Given the description of an element on the screen output the (x, y) to click on. 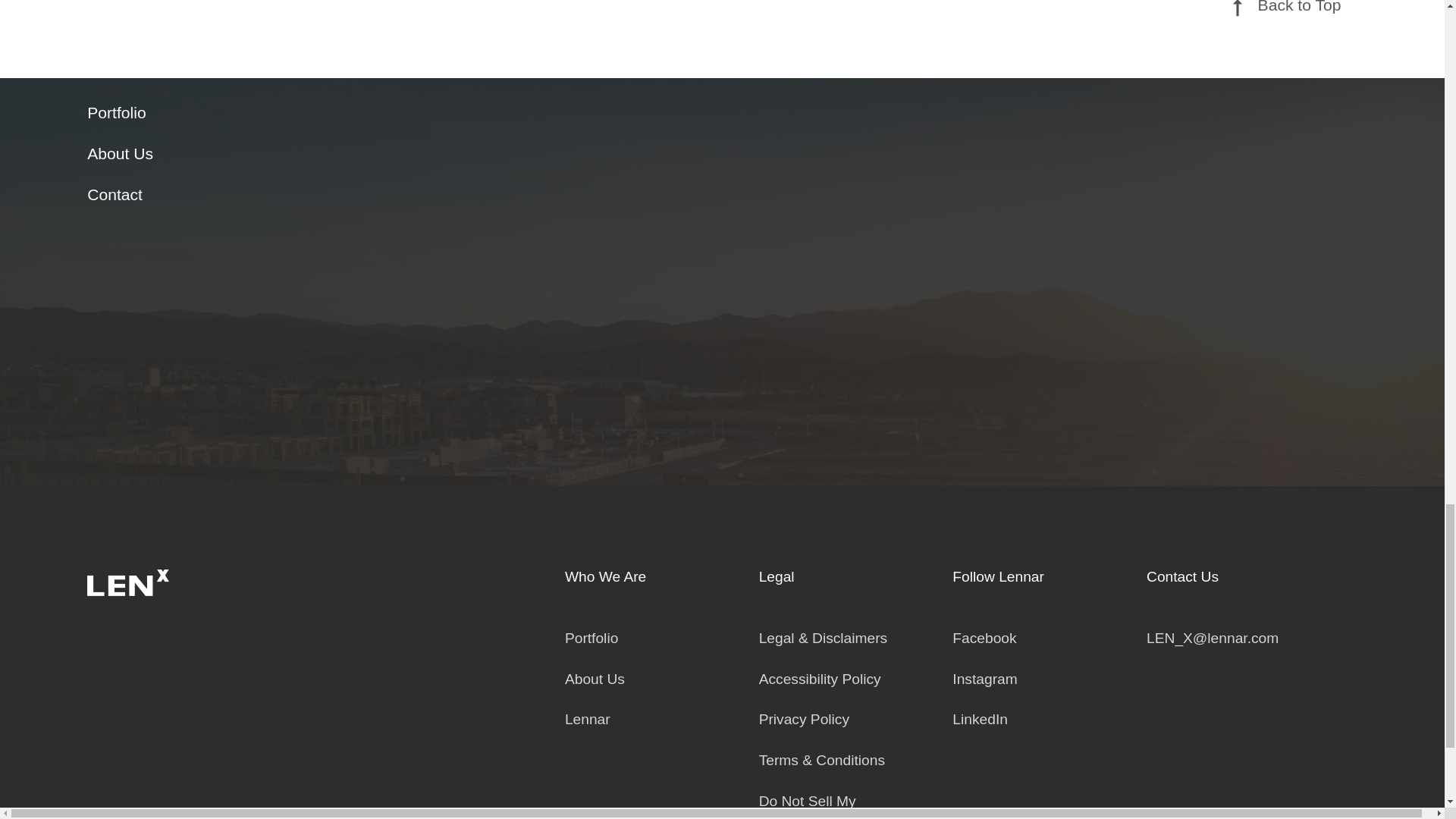
Back to Top (1281, 38)
